Given the description of an element on the screen output the (x, y) to click on. 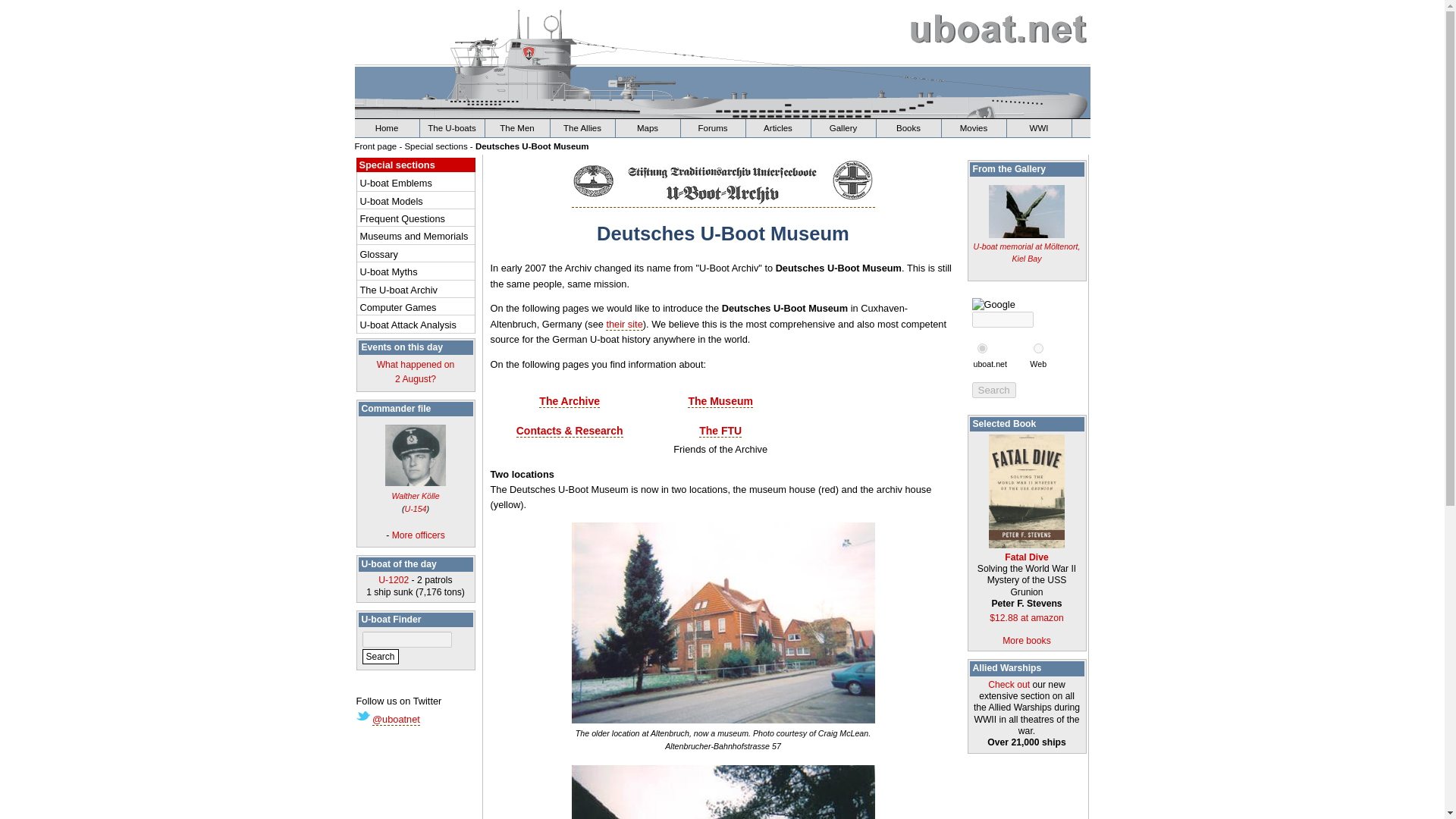
The Men (517, 127)
The Boats (452, 127)
Join our Forums (713, 127)
Search (380, 656)
Search the Web (1037, 363)
The U-boat Archiv (415, 371)
Fatal Dive (416, 289)
Home (1026, 550)
Books (387, 127)
